Given the description of an element on the screen output the (x, y) to click on. 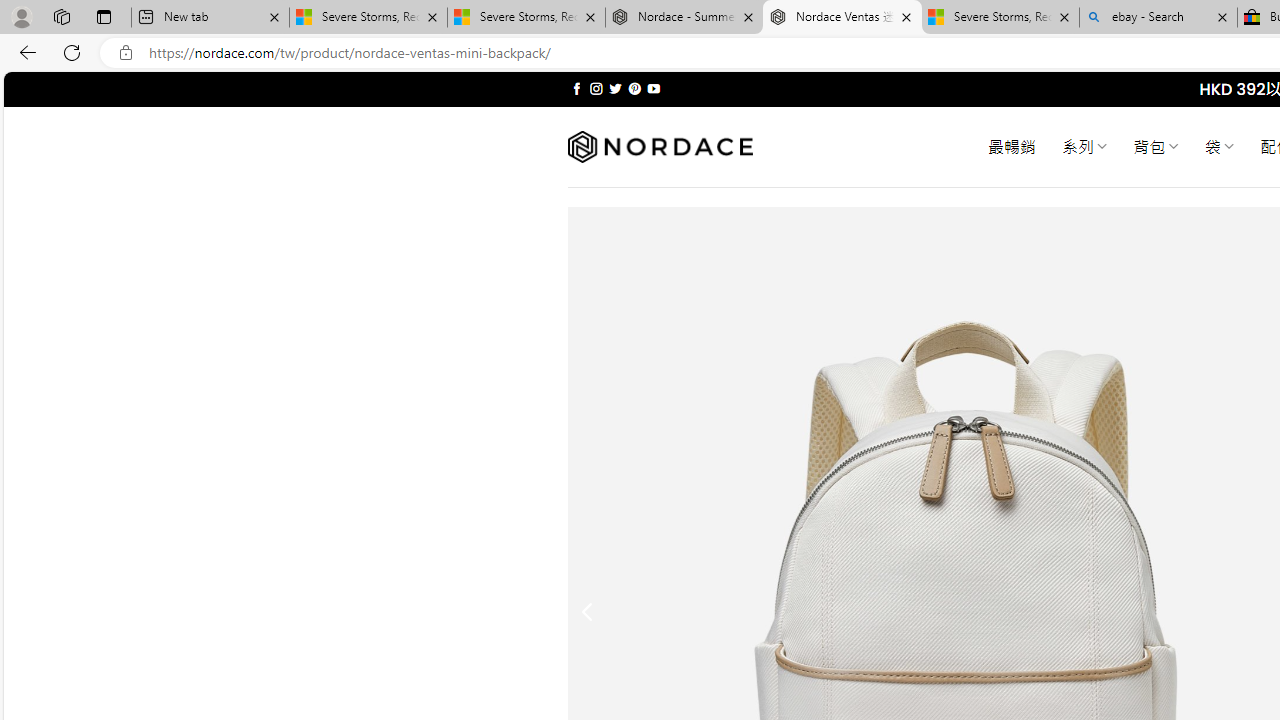
Nordace - Summer Adventures 2024 (683, 17)
Follow on Facebook (576, 88)
Follow on Twitter (615, 88)
ebay - Search (1158, 17)
Follow on YouTube (653, 88)
